Given the description of an element on the screen output the (x, y) to click on. 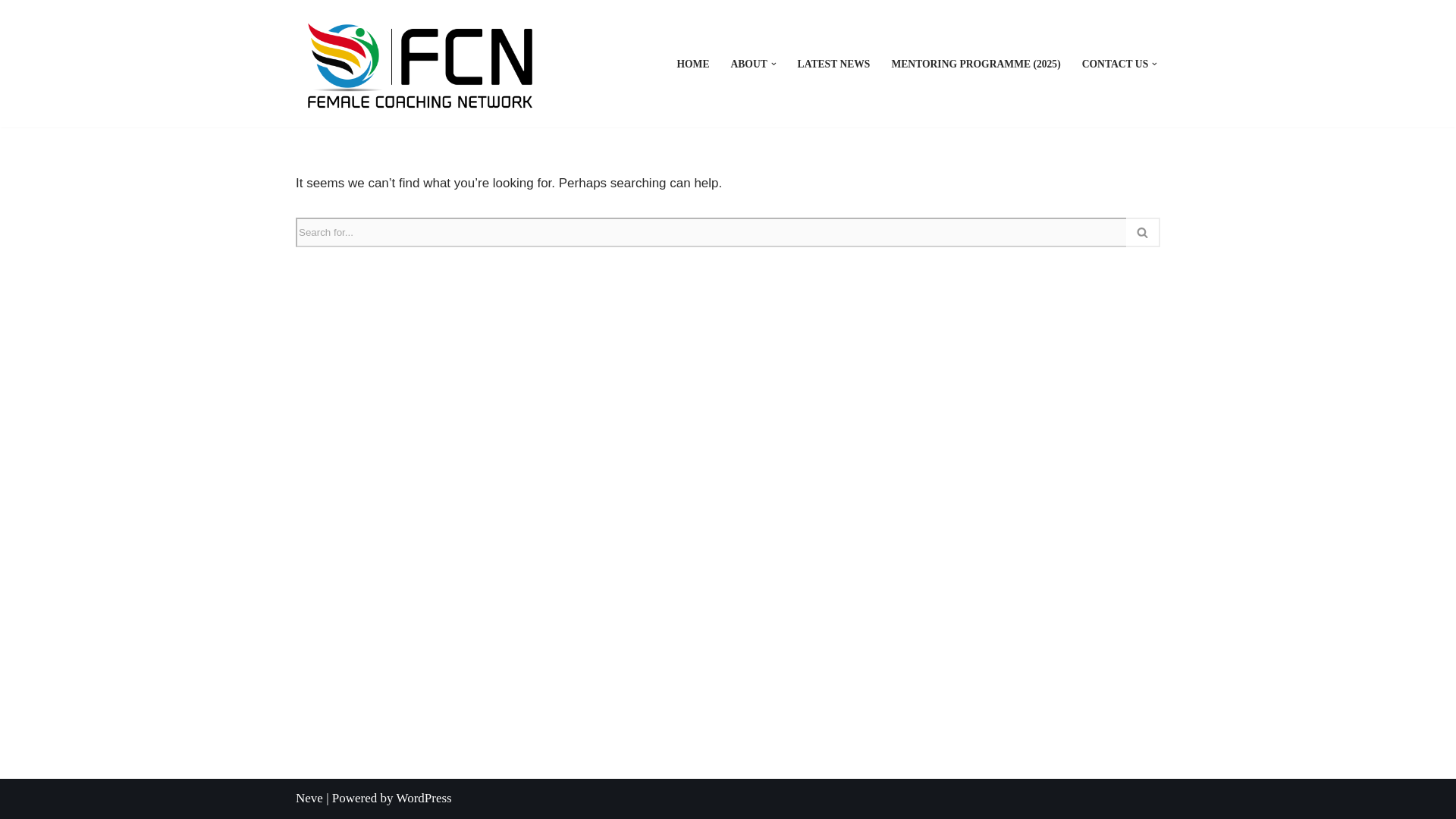
ABOUT (748, 63)
Skip to content (11, 31)
CONTACT US (1114, 63)
WordPress (423, 798)
LATEST NEWS (833, 63)
HOME (693, 63)
Neve (309, 798)
